Given the description of an element on the screen output the (x, y) to click on. 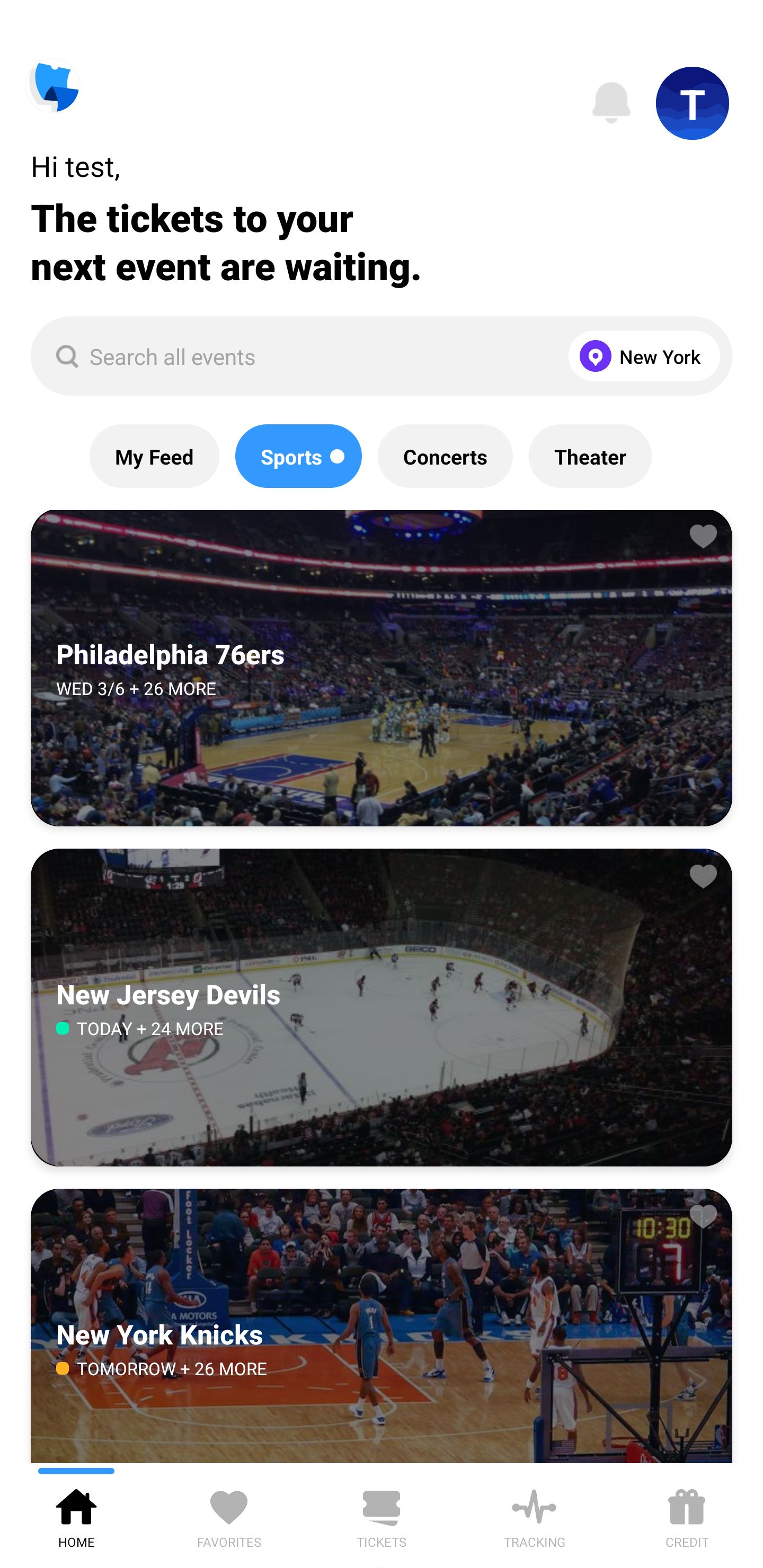
T (692, 103)
New York (640, 355)
My Feed (154, 455)
Sports (298, 455)
Concerts (444, 455)
Theater (589, 455)
HOME (76, 1515)
FAVORITES (228, 1515)
TICKETS (381, 1515)
TRACKING (533, 1515)
CREDIT (686, 1515)
